Given the description of an element on the screen output the (x, y) to click on. 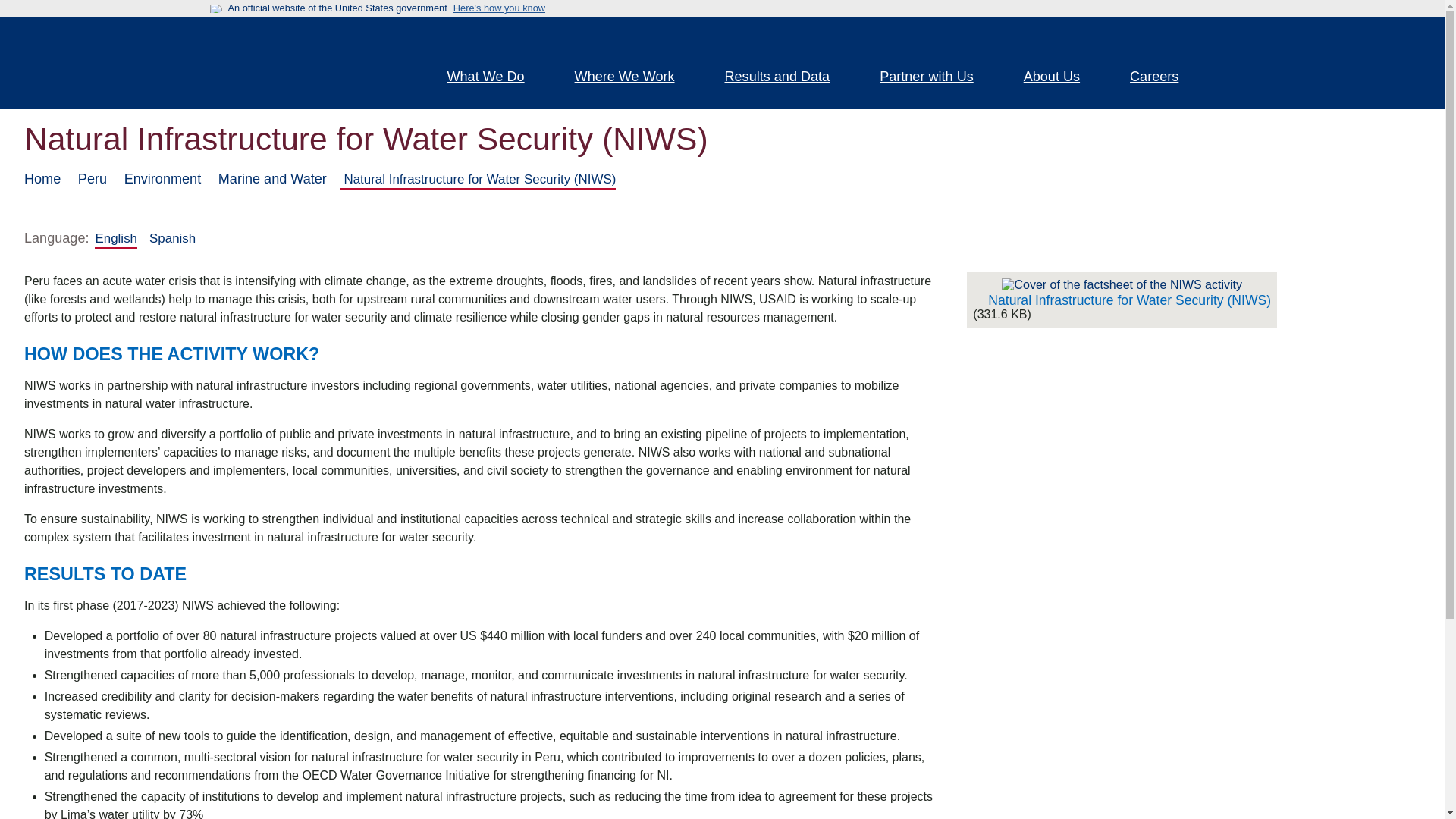
What We Do (493, 78)
Home (42, 178)
Partner with Us (935, 78)
Marine and Water (272, 178)
Environment (162, 178)
Spanish (172, 237)
Home (304, 62)
Where We Work (634, 78)
About Us (1060, 78)
Careers (1162, 78)
